Given the description of an element on the screen output the (x, y) to click on. 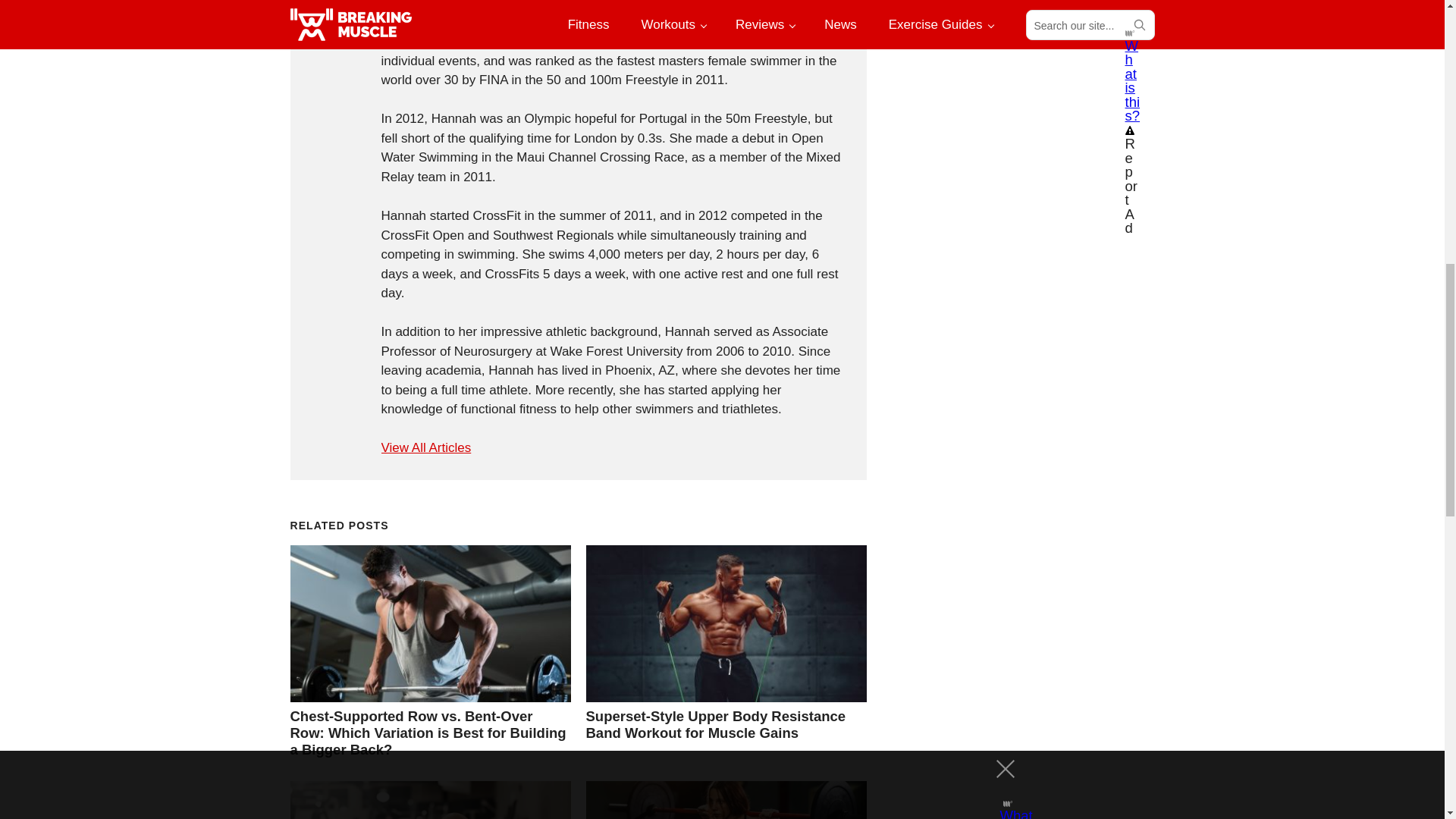
3rd party ad content (1026, 12)
